Given the description of an element on the screen output the (x, y) to click on. 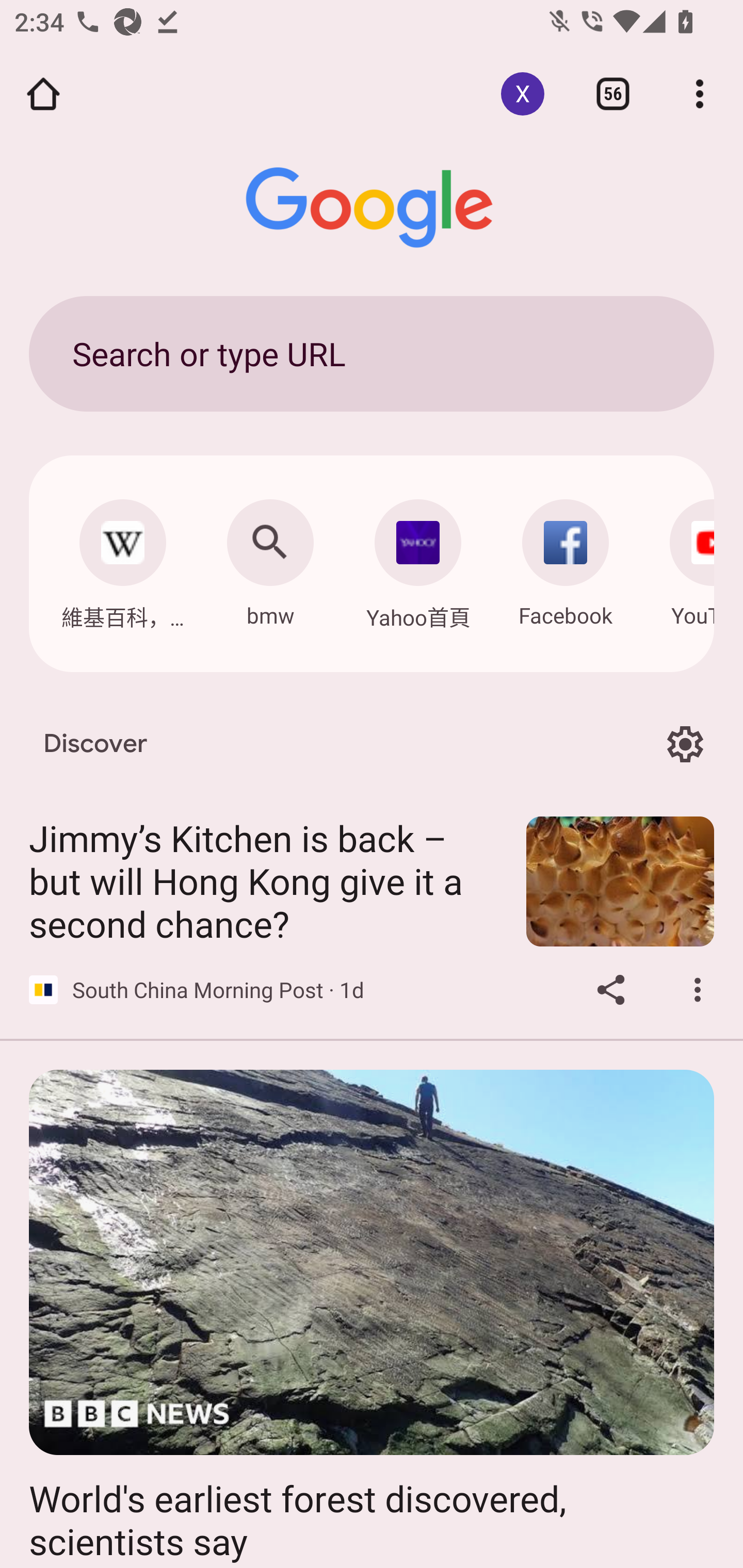
Open the home page (43, 93)
Switch or close tabs (612, 93)
Customize and control Google Chrome (699, 93)
Search or type URL (371, 353)
Search: bmw bmw (270, 558)
Navigate: Yahoo首頁: hk.mobi.yahoo.com Yahoo首頁 (417, 558)
Navigate: Facebook: m.facebook.com Facebook (565, 558)
Options for Discover (684, 743)
